Given the description of an element on the screen output the (x, y) to click on. 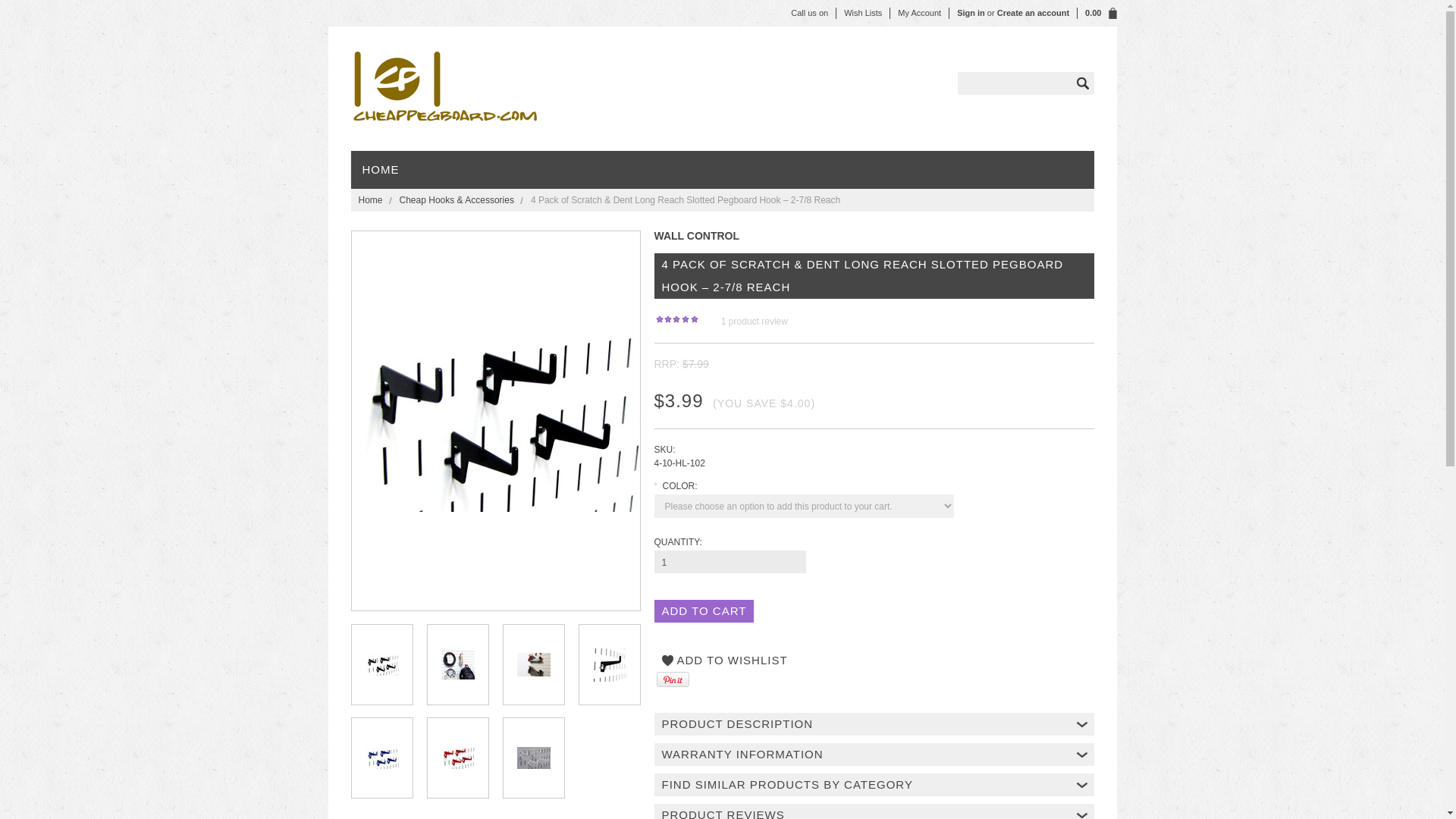
Image 2 (457, 664)
Wish Lists (862, 12)
Image 6 (457, 757)
Create an account (1032, 12)
SEARCH (1081, 83)
Add to Cart (703, 610)
1 product review (744, 321)
1 (729, 561)
WALL CONTROL (696, 235)
0.00 (1096, 12)
Image 7 (533, 757)
My Account (919, 12)
Image 1 (496, 418)
Image 3 (533, 664)
Add to Wishlist (723, 660)
